Given the description of an element on the screen output the (x, y) to click on. 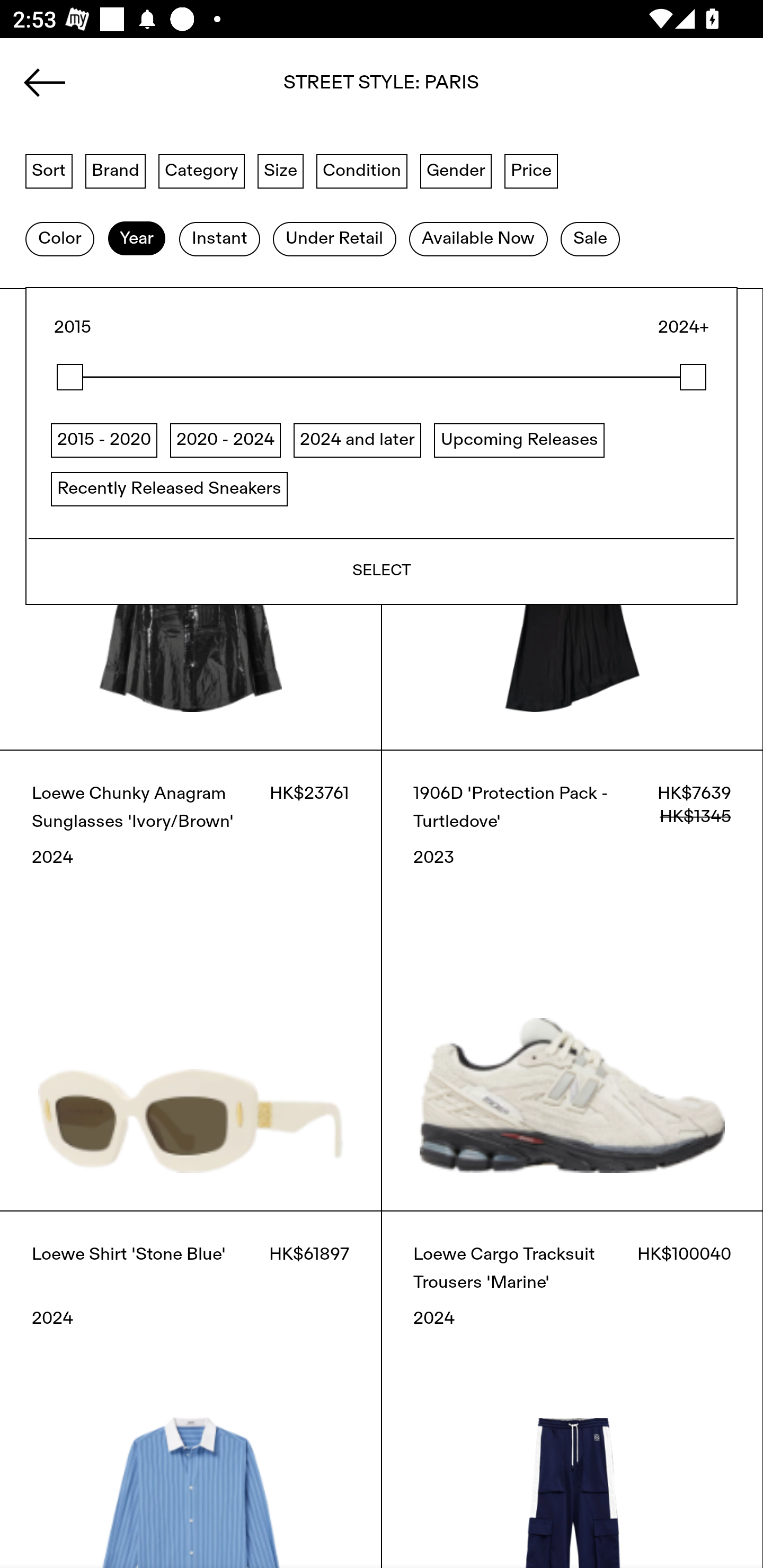
soccer shoes (381, 88)
Sort (48, 170)
Brand (115, 170)
Category (201, 170)
Size (280, 170)
Condition (361, 170)
Gender (455, 170)
Price (530, 170)
Color (59, 239)
Year (136, 239)
Instant (219, 239)
Under Retail (334, 239)
Available Now (477, 239)
Sale (589, 239)
2015.0 Range start,2015 2024.0 Range end,2024 (381, 376)
2015 - 2020 (104, 439)
2020 - 2024 (225, 439)
2024 and later (357, 439)
Upcoming Releases (519, 439)
Recently Released Sneakers (169, 488)
SELECT (381, 570)
Loewe Shirt 'Stone Blue' HK$61897 2024 (190, 1389)
